Given the description of an element on the screen output the (x, y) to click on. 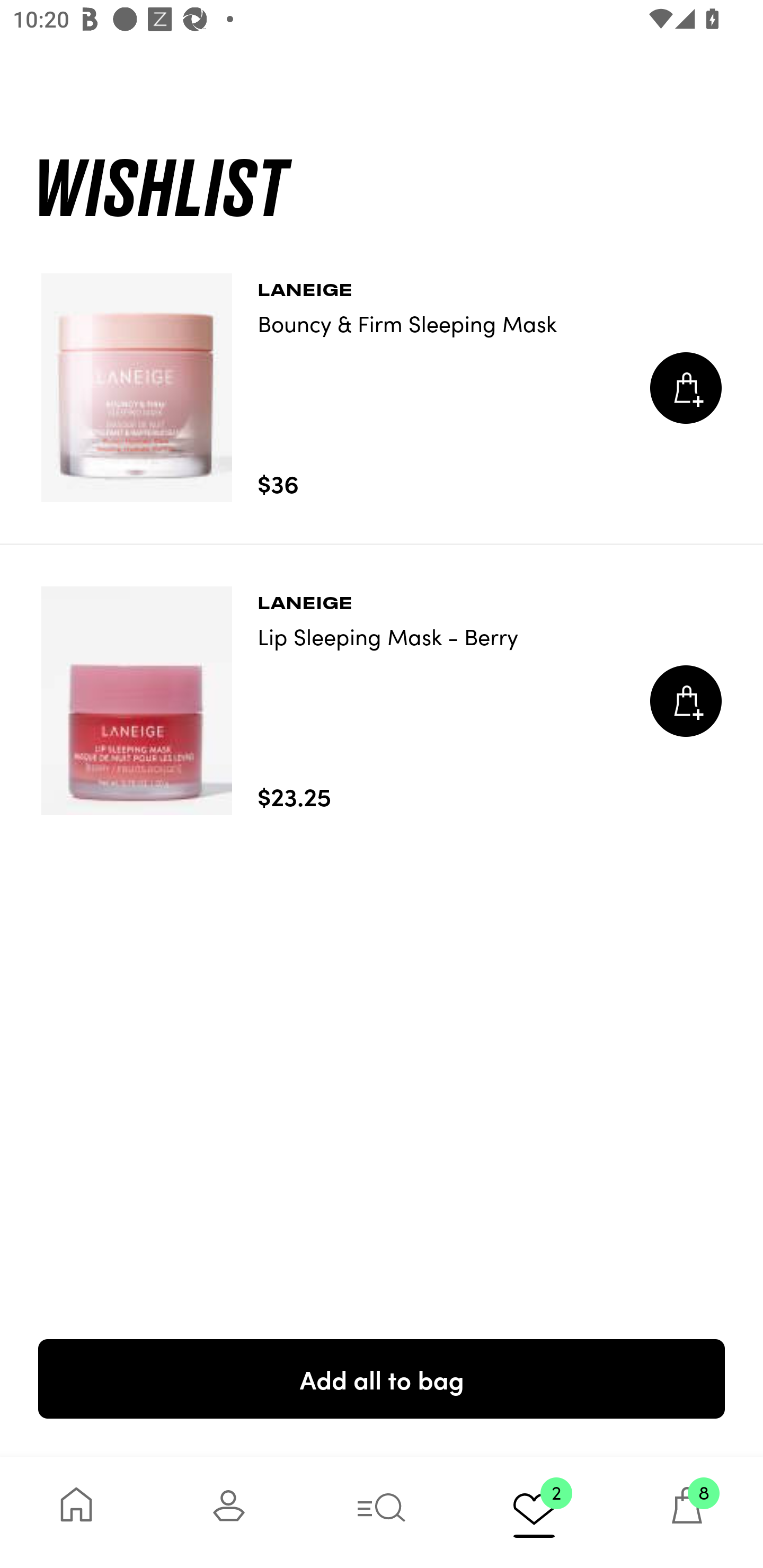
LANEIGE Bouncy & Firm Sleeping Mask $36 (381, 388)
LANEIGE Lip Sleeping Mask - Berry $23.25 (381, 700)
Add all to bag (381, 1379)
2 (533, 1512)
8 (686, 1512)
